Given the description of an element on the screen output the (x, y) to click on. 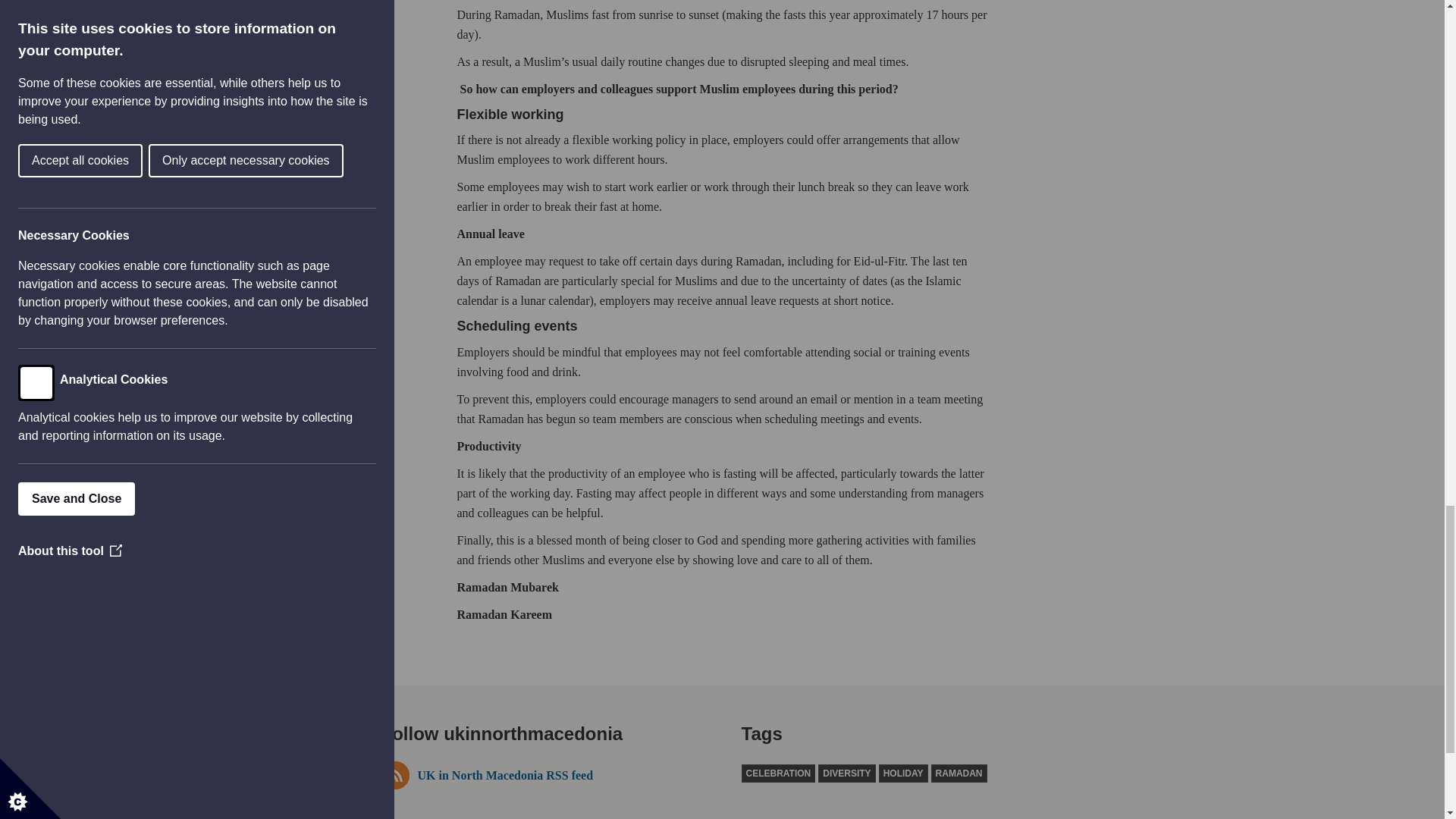
holiday Tag (903, 773)
Ramadan Tag (959, 773)
RAMADAN (959, 773)
celebration Tag (778, 773)
CELEBRATION (778, 773)
HOLIDAY (903, 773)
diversity Tag (846, 773)
DIVERSITY (846, 773)
UK in North Macedonia RSS feed (541, 774)
